Given the description of an element on the screen output the (x, y) to click on. 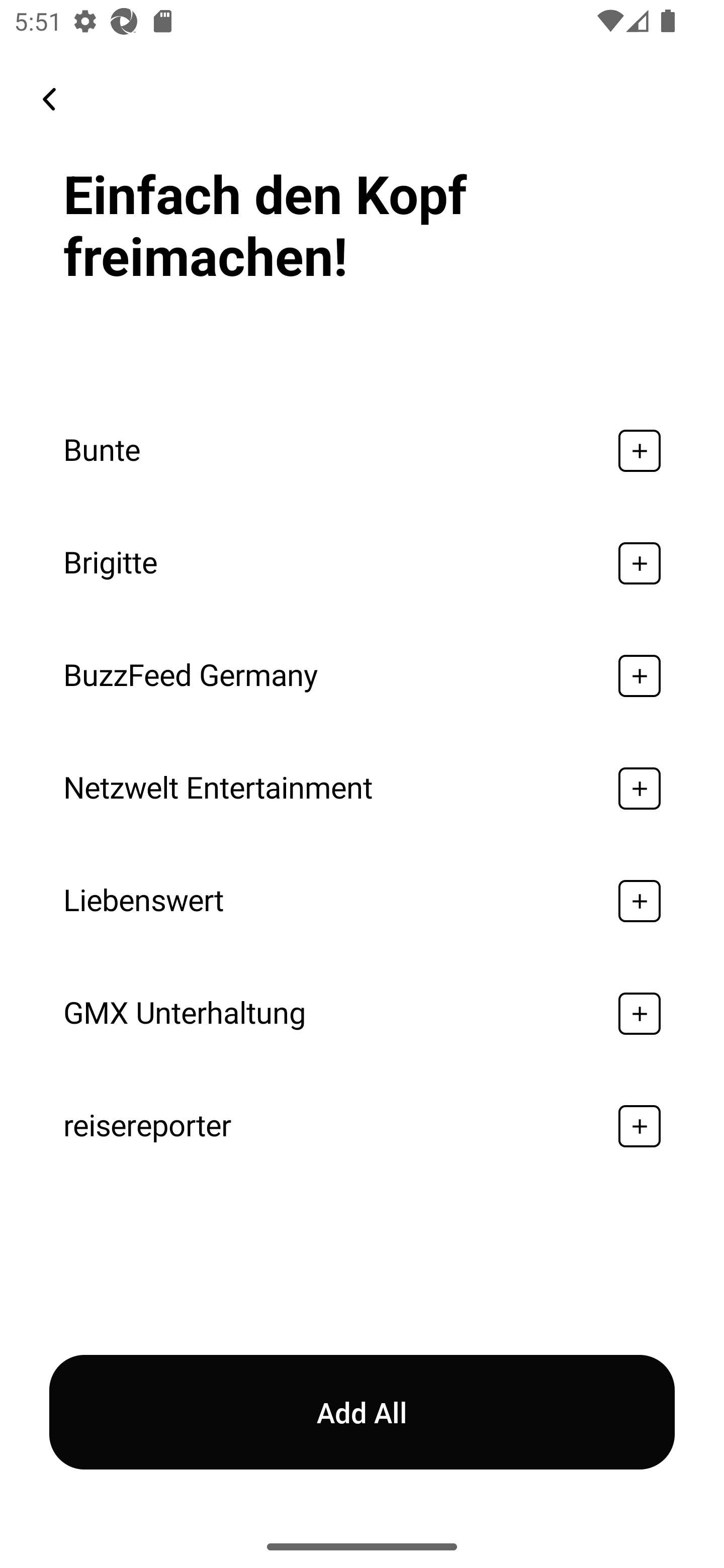
Leading Icon (49, 98)
Bunte Add To My Bundle (361, 450)
Add To My Bundle (639, 450)
Brigitte Add To My Bundle (361, 562)
Add To My Bundle (639, 562)
BuzzFeed Germany Add To My Bundle (361, 675)
Add To My Bundle (639, 675)
Netzwelt Entertainment Add To My Bundle (361, 788)
Add To My Bundle (639, 788)
Liebenswert Add To My Bundle (361, 901)
Add To My Bundle (639, 901)
GMX Unterhaltung Add To My Bundle (361, 1013)
Add To My Bundle (639, 1013)
reisereporter Add To My Bundle (361, 1125)
Add To My Bundle (639, 1125)
Add All (361, 1411)
